Given the description of an element on the screen output the (x, y) to click on. 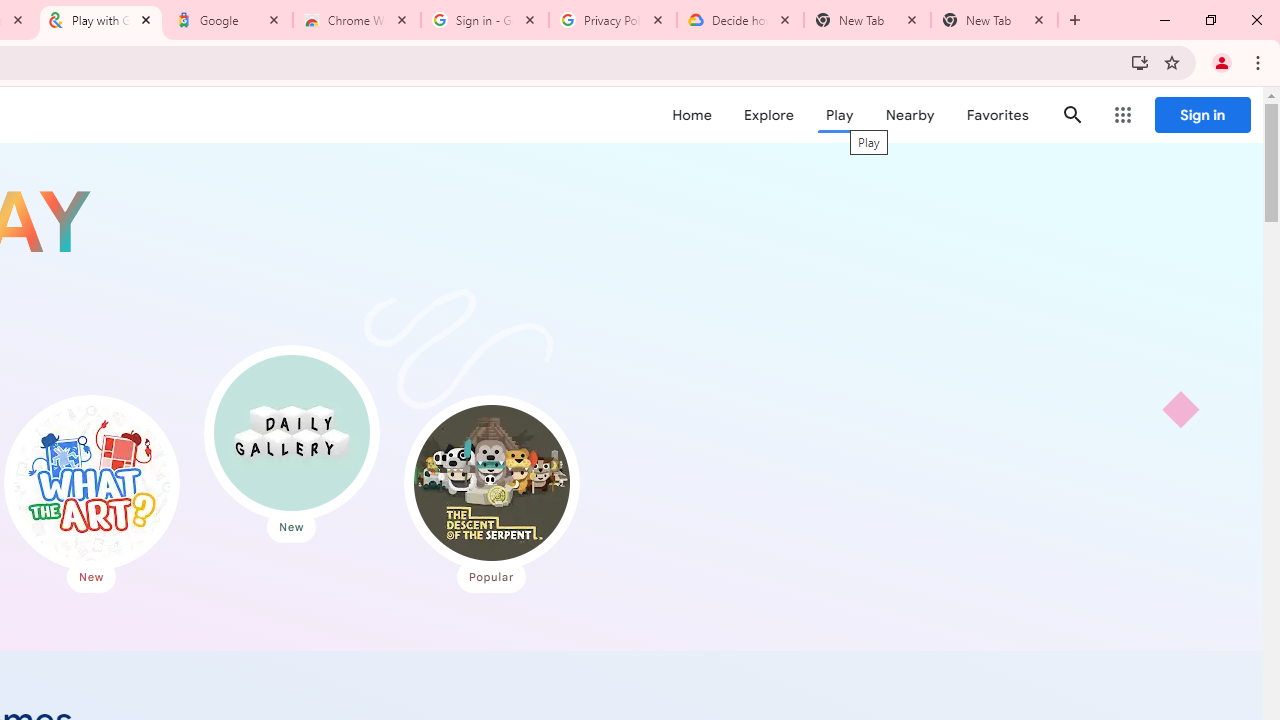
Google (229, 20)
Daily Gallery (291, 432)
Favorites (996, 115)
Play (840, 115)
